Given the description of an element on the screen output the (x, y) to click on. 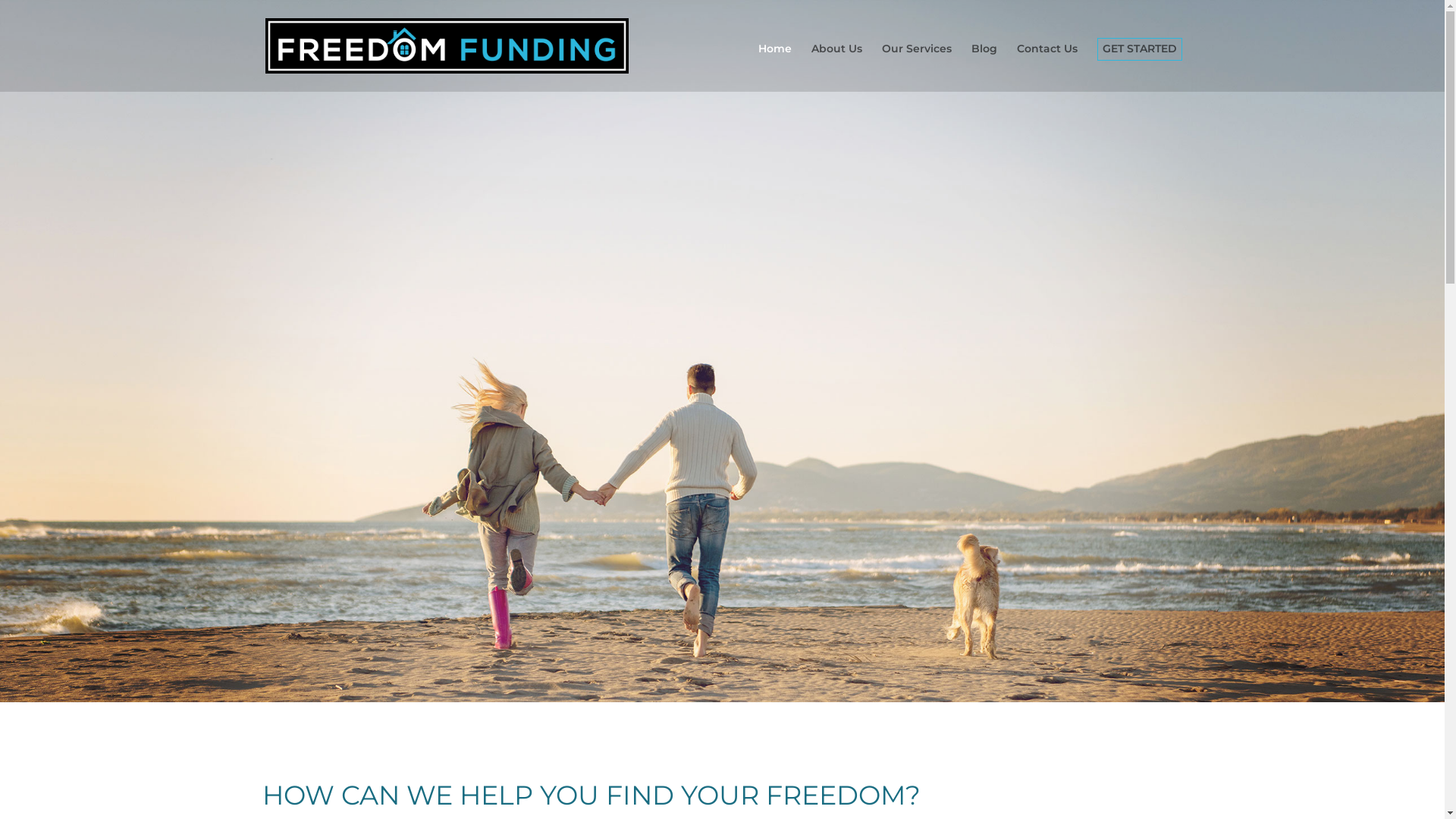
About Us Element type: text (836, 67)
Home Element type: text (774, 67)
Contact Us Element type: text (1046, 67)
Blog Element type: text (984, 67)
GET STARTED Element type: text (1139, 67)
Our Services Element type: text (916, 67)
